Given the description of an element on the screen output the (x, y) to click on. 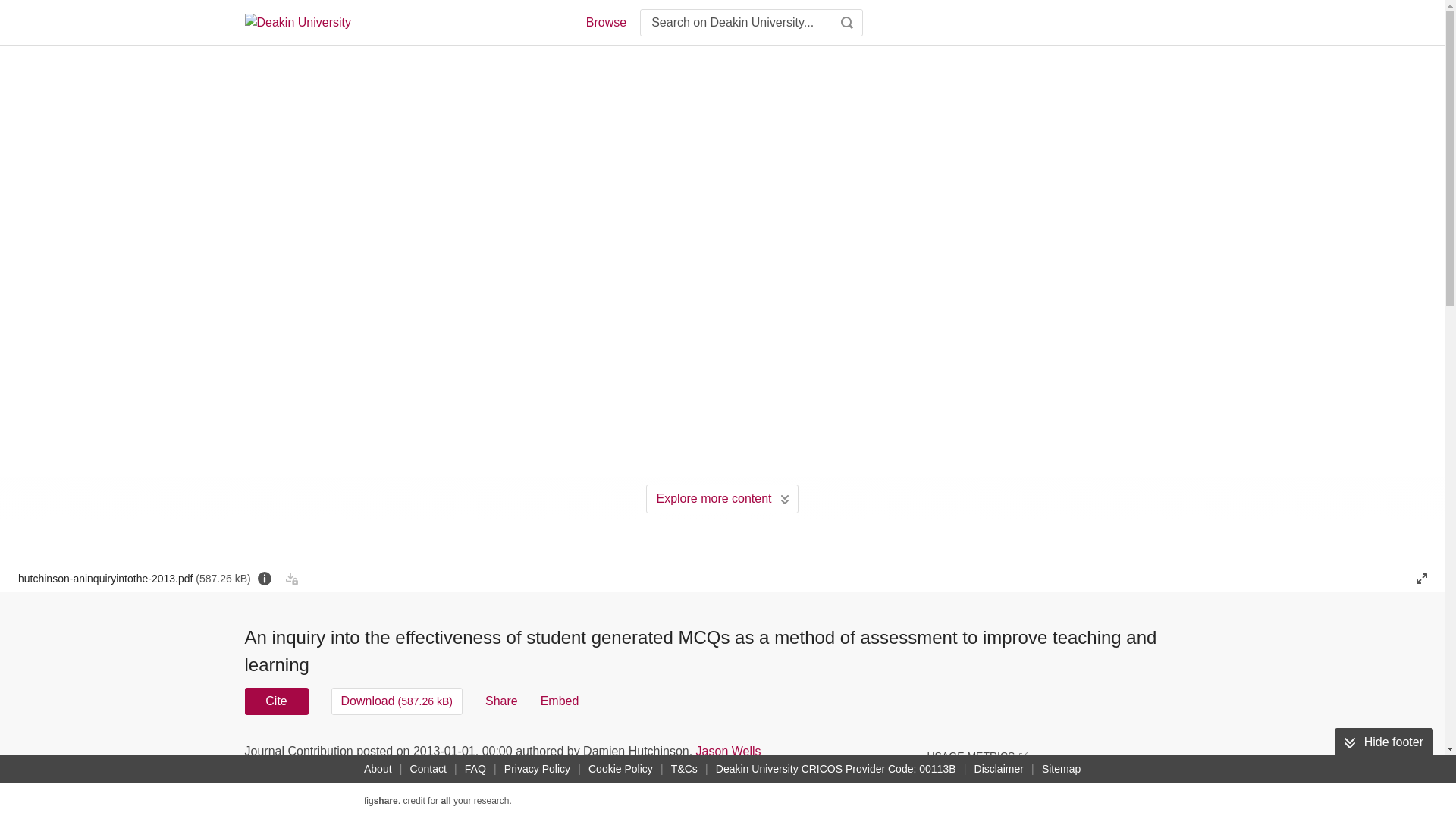
Contact (428, 769)
Jason Wells (728, 750)
FAQ (475, 769)
Embed (559, 700)
Share (501, 700)
hutchinson-aninquiryintothe-2013.pdf (133, 578)
About (377, 769)
Explore more content (721, 498)
USAGE METRICS (976, 755)
Cookie Policy (620, 769)
Hide footer (1383, 742)
Cite (275, 700)
Browse (605, 22)
Privacy Policy (537, 769)
